Given the description of an element on the screen output the (x, y) to click on. 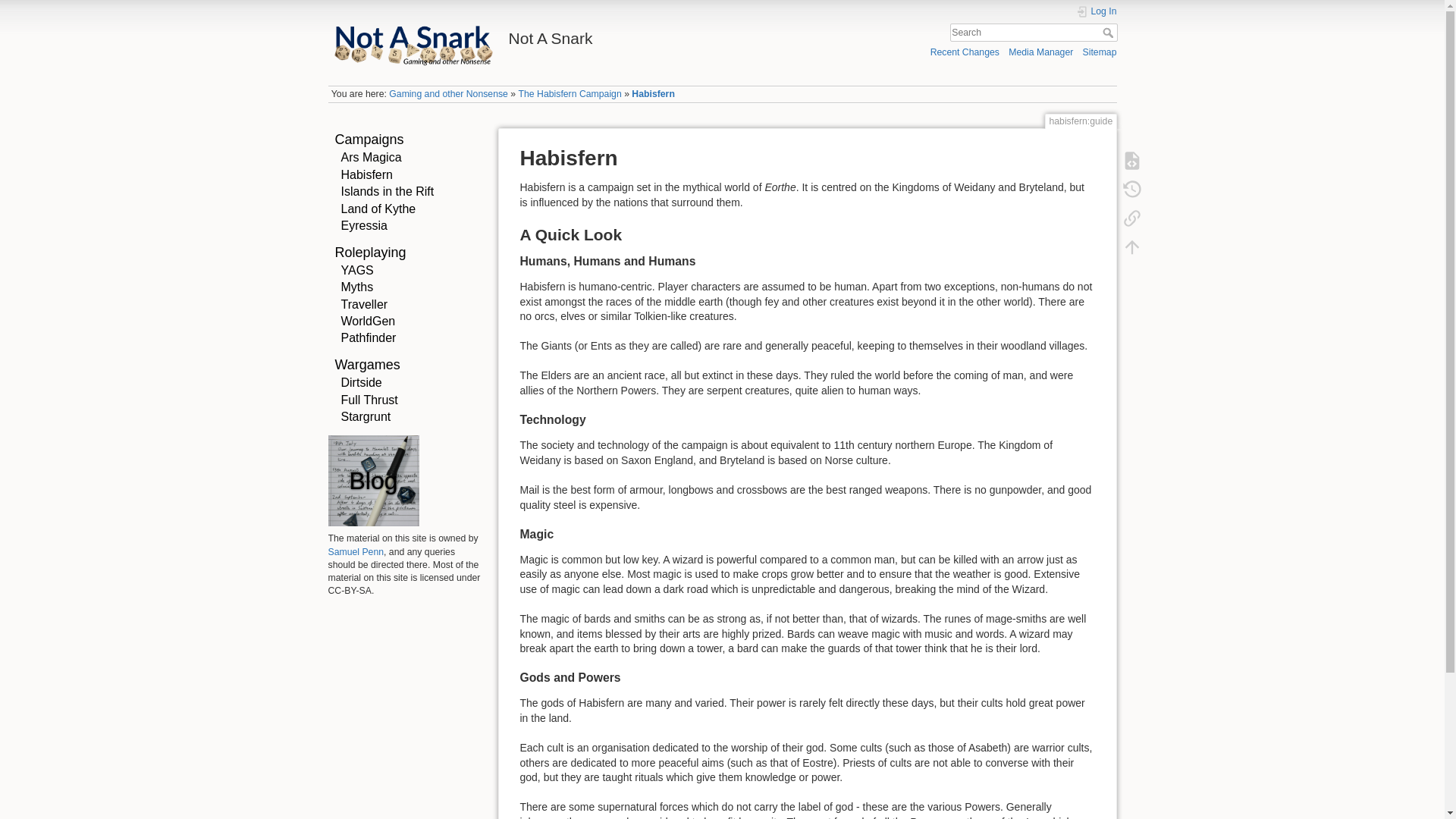
Islands in the Rift (386, 191)
Habisfern (366, 174)
Search (1109, 32)
WorldGen (368, 320)
Full Thrust (368, 399)
habisfern:index (569, 93)
The Habisfern Campaign (569, 93)
Traveller (364, 304)
Gaming and other Nonsense (448, 93)
Stargrunt (365, 416)
